Given the description of an element on the screen output the (x, y) to click on. 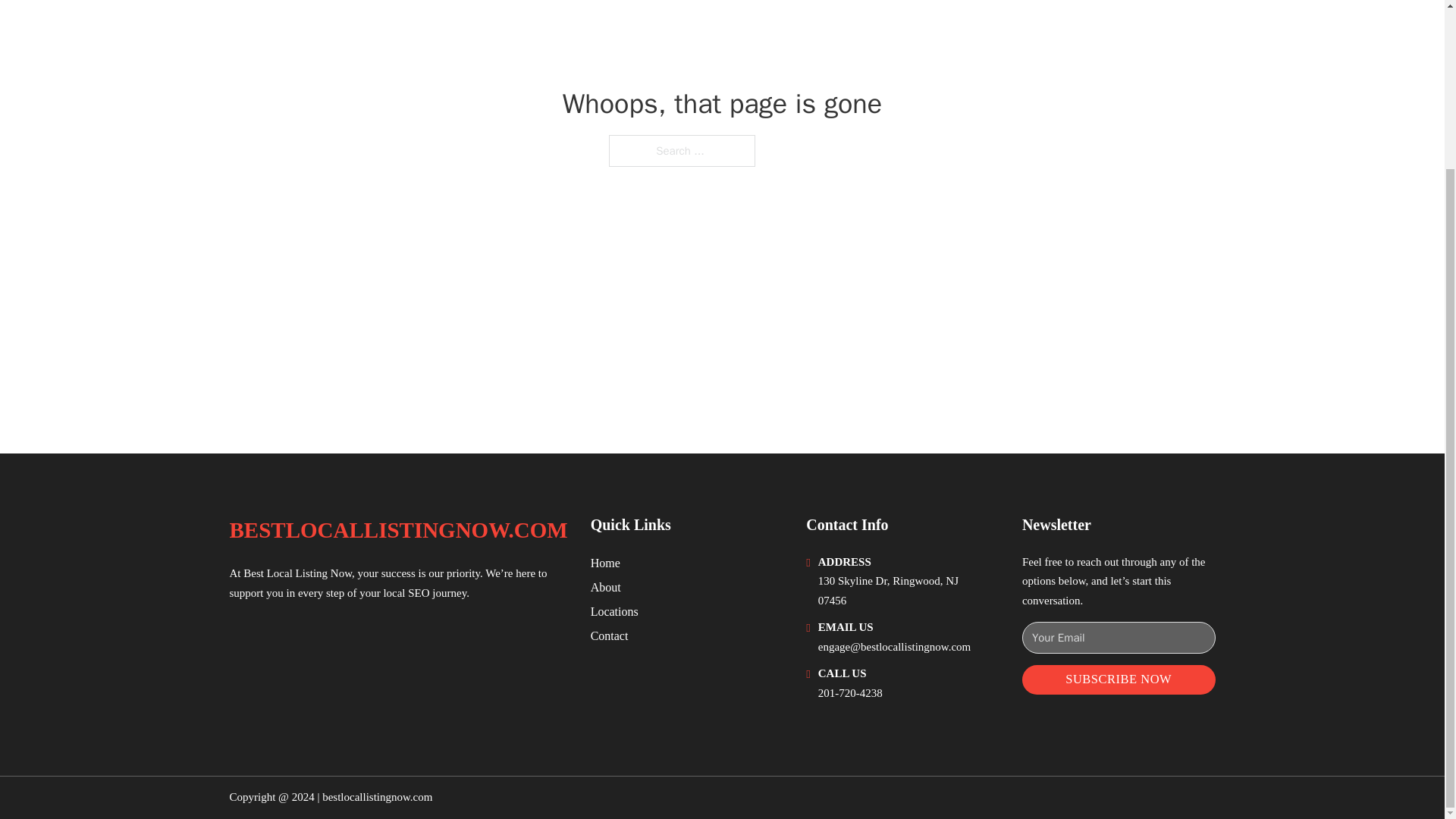
Locations (615, 611)
SUBSCRIBE NOW (1118, 679)
Contact (609, 635)
BESTLOCALLISTINGNOW.COM (397, 529)
201-720-4238 (850, 693)
About (606, 587)
Home (605, 562)
